Given the description of an element on the screen output the (x, y) to click on. 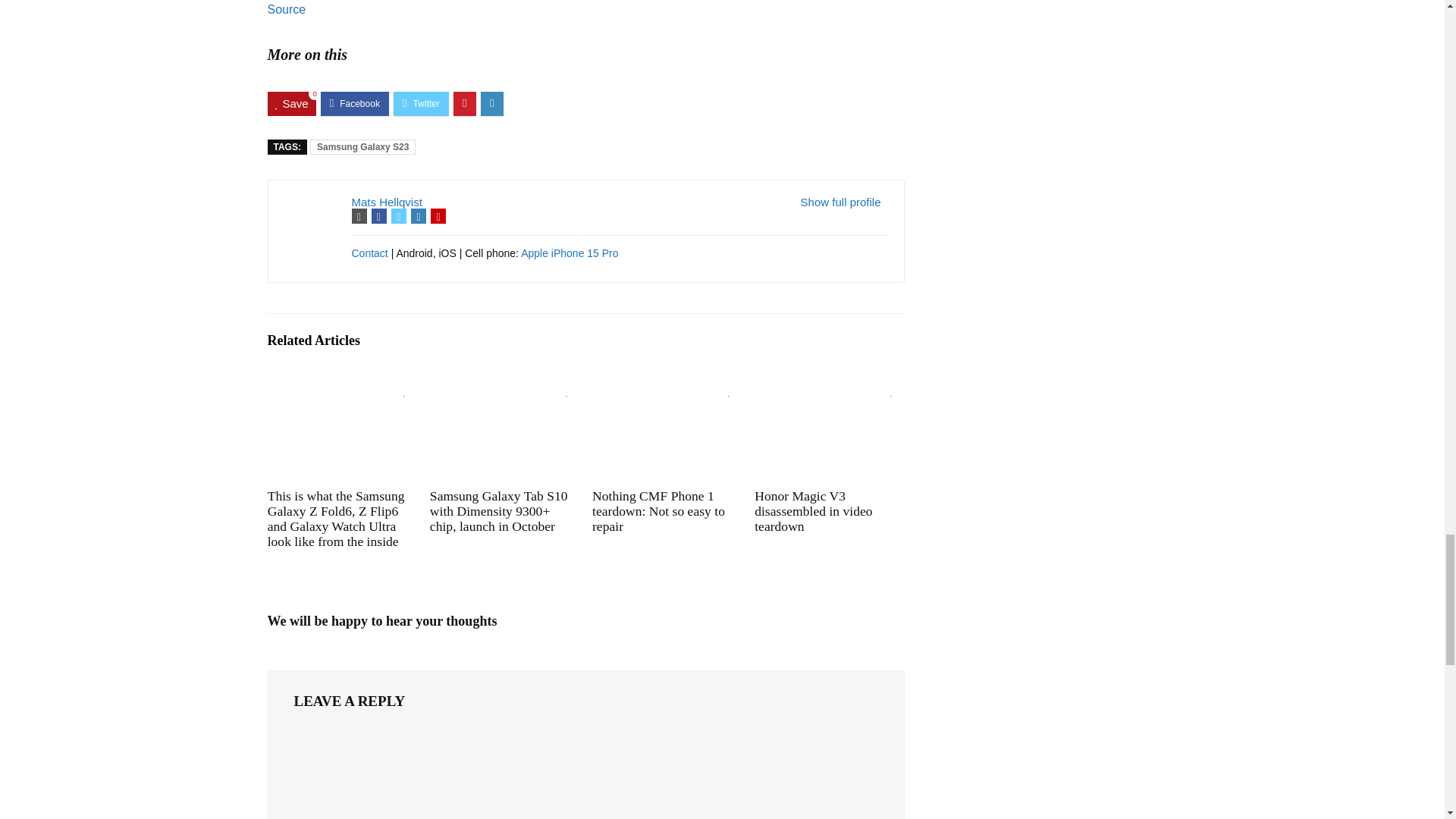
Comment Form (585, 773)
Source (285, 9)
